Given the description of an element on the screen output the (x, y) to click on. 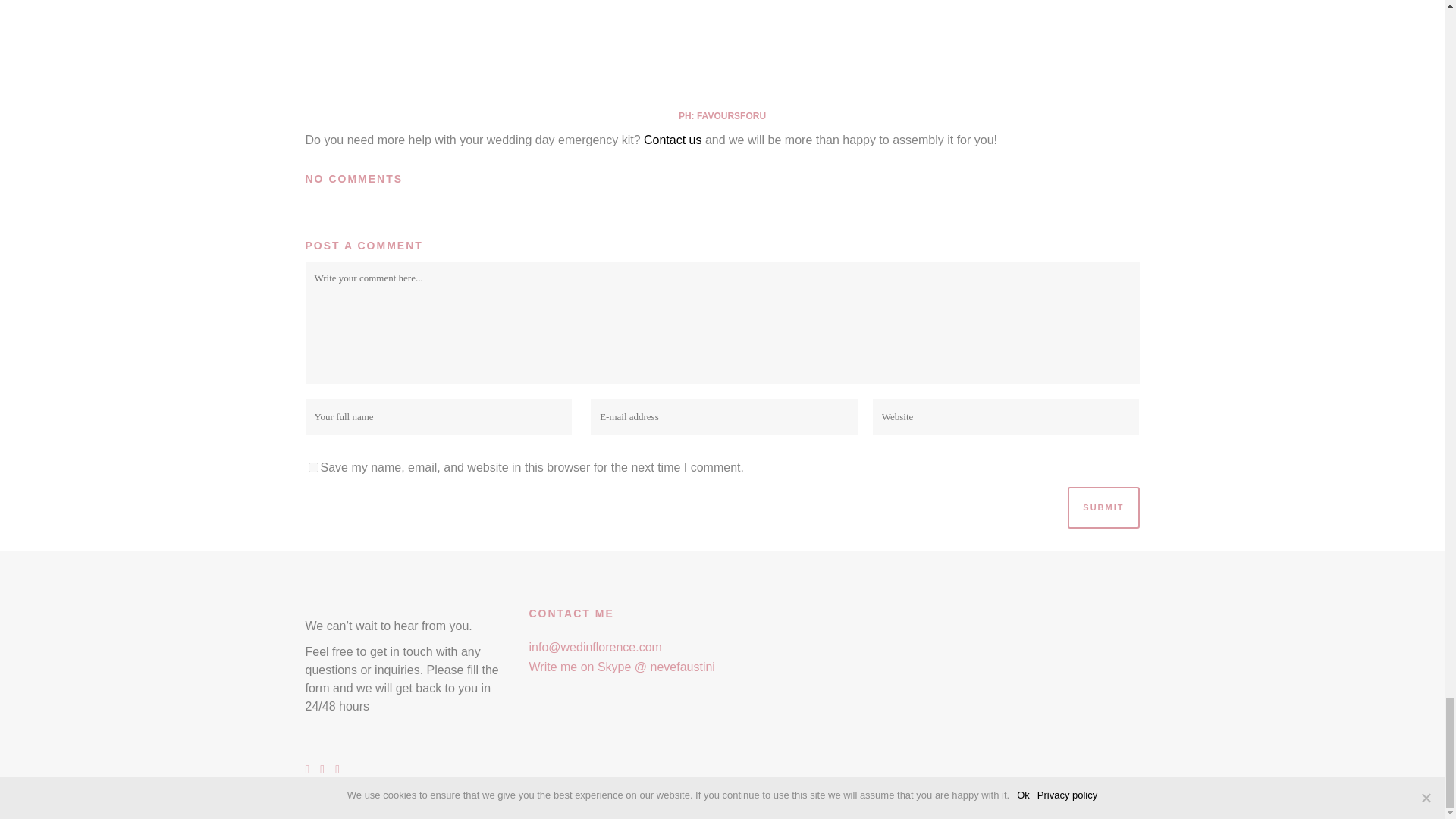
Contact us (672, 139)
Submit (1102, 507)
FAVOURSFORU (731, 115)
yes (312, 467)
Submit (1102, 507)
